Given the description of an element on the screen output the (x, y) to click on. 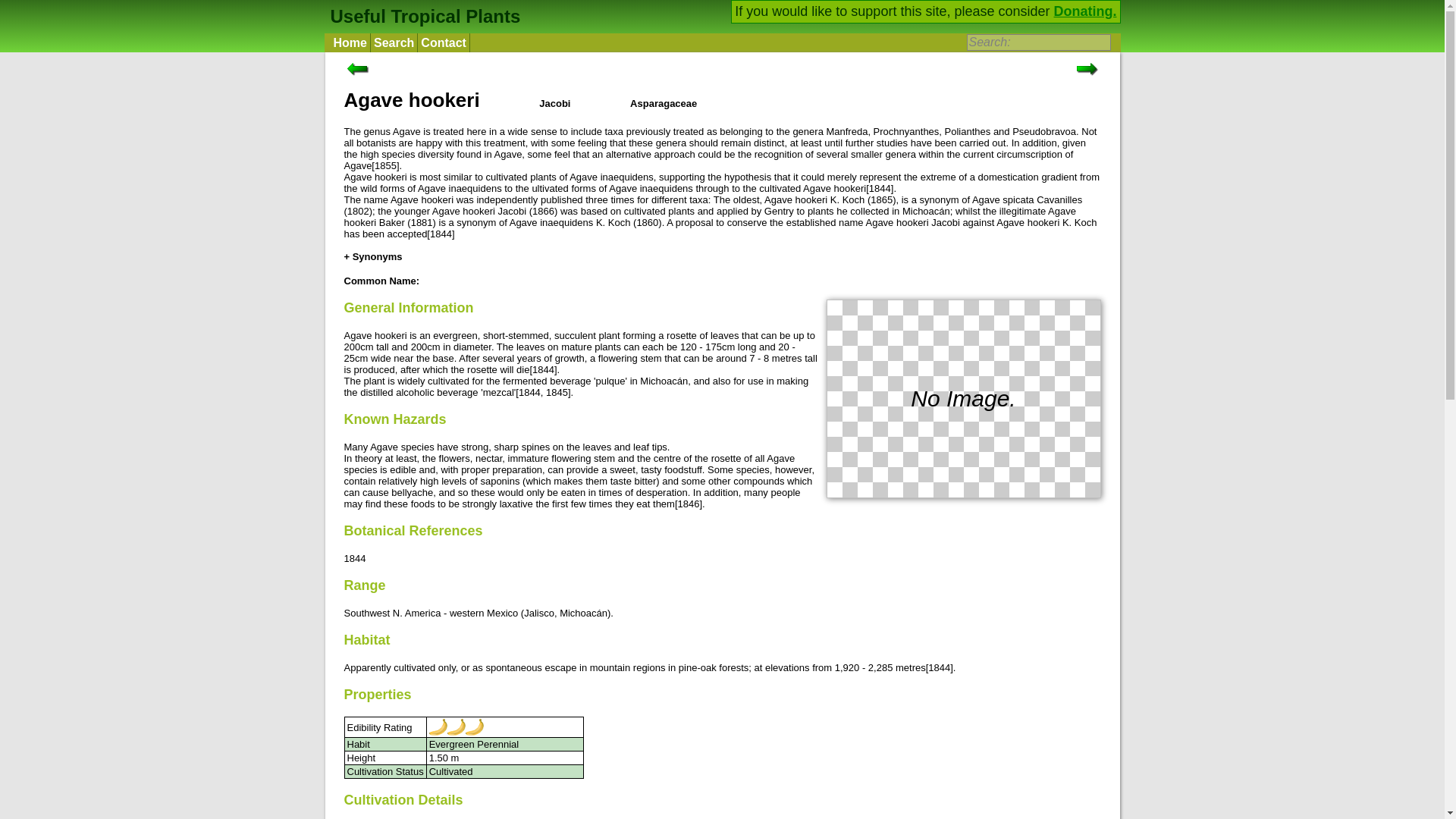
Search: (1037, 42)
Home (350, 42)
1846 (689, 503)
1844 (354, 558)
1844 (939, 667)
Search: (1037, 42)
1855 (385, 165)
1844 (880, 188)
Useful Tropical Plants (422, 15)
1844 (440, 233)
1845 (556, 392)
1844 (529, 392)
1844 (543, 369)
Donating. (1085, 11)
